Given the description of an element on the screen output the (x, y) to click on. 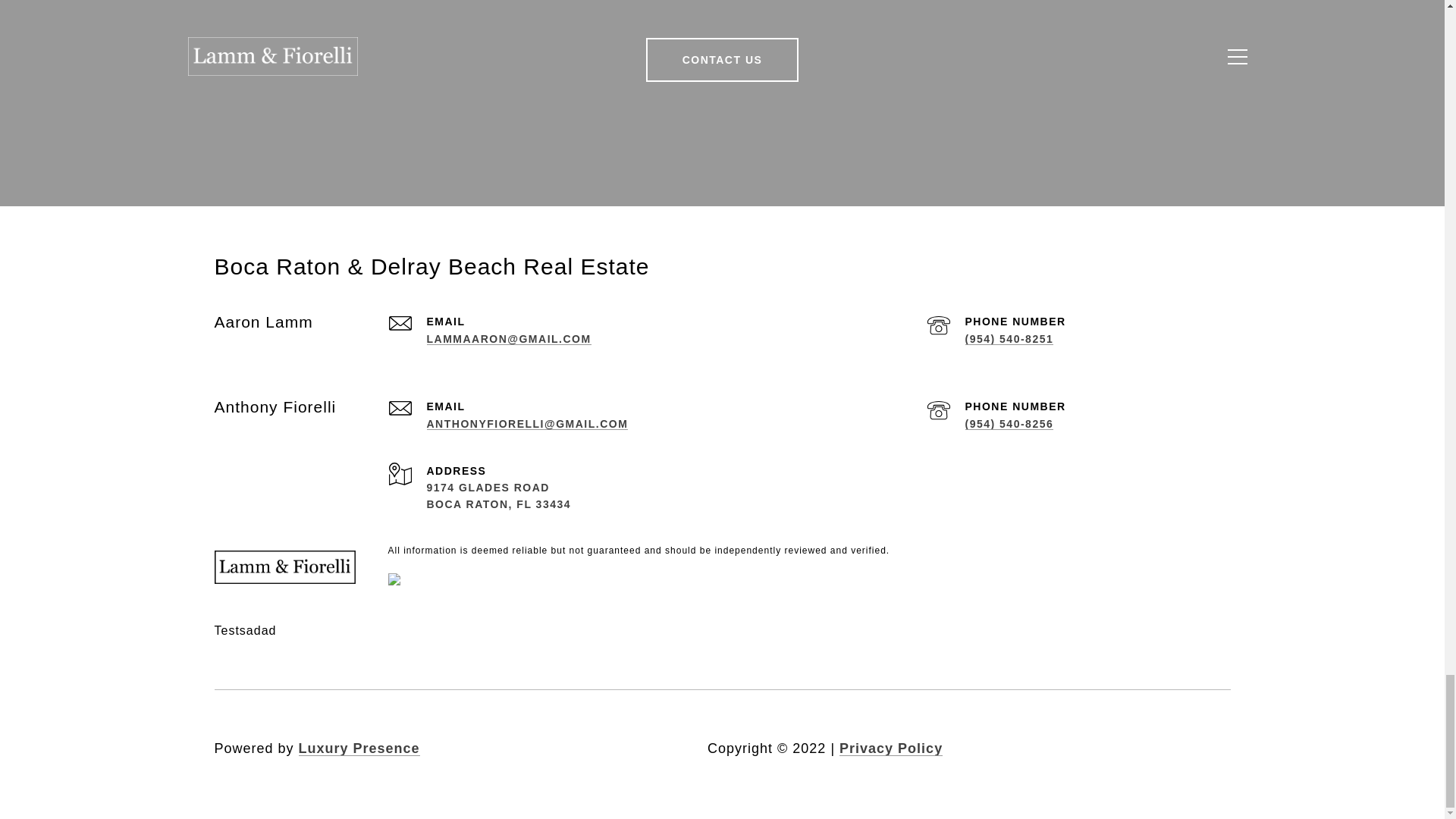
CONTACT US (722, 59)
Luxury Presence (359, 748)
Privacy Policy (891, 748)
